Given the description of an element on the screen output the (x, y) to click on. 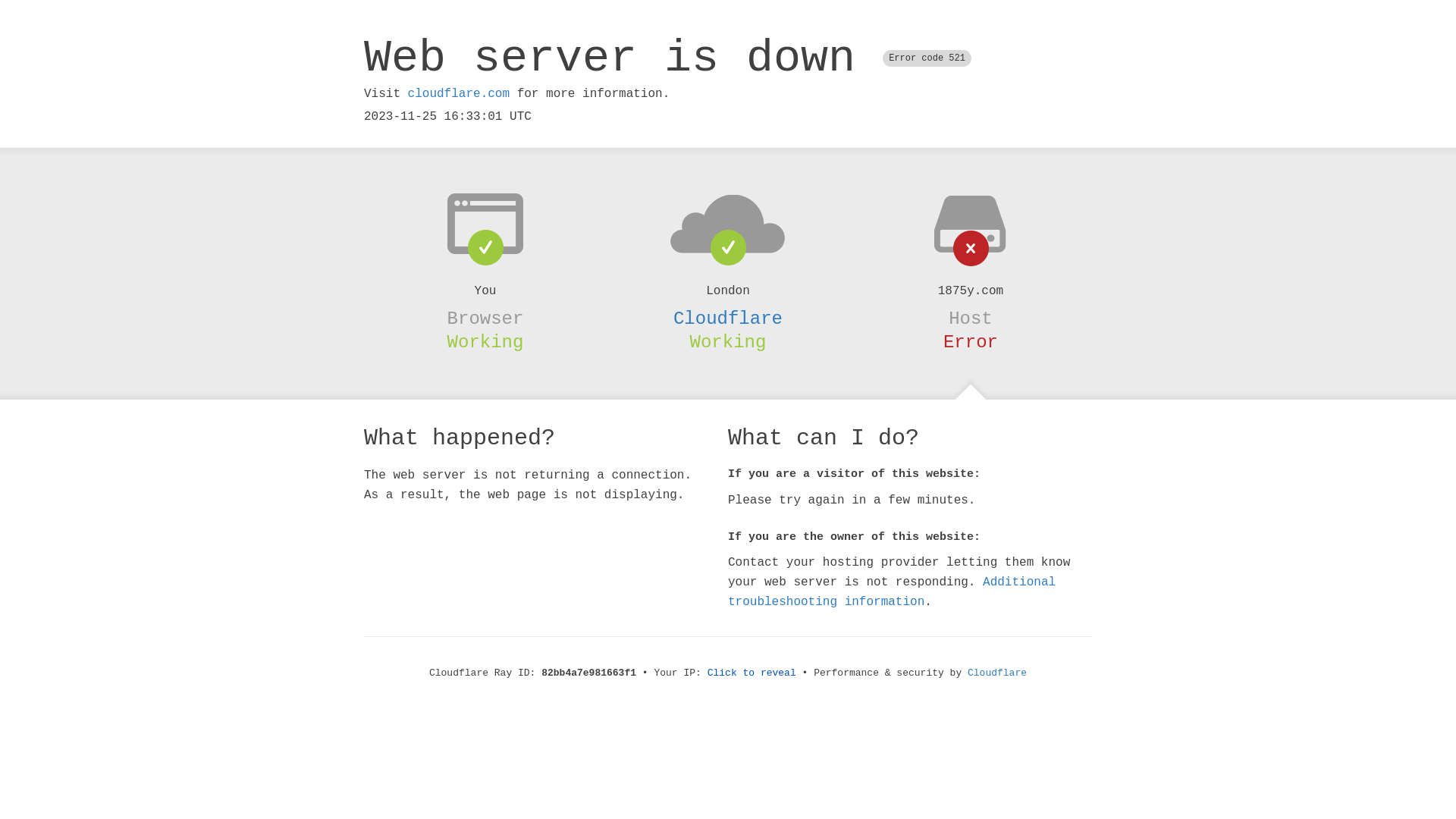
Click to reveal Element type: text (751, 672)
Cloudflare Element type: text (996, 672)
Additional troubleshooting information Element type: text (891, 591)
Cloudflare Element type: text (727, 318)
cloudflare.com Element type: text (458, 93)
